Given the description of an element on the screen output the (x, y) to click on. 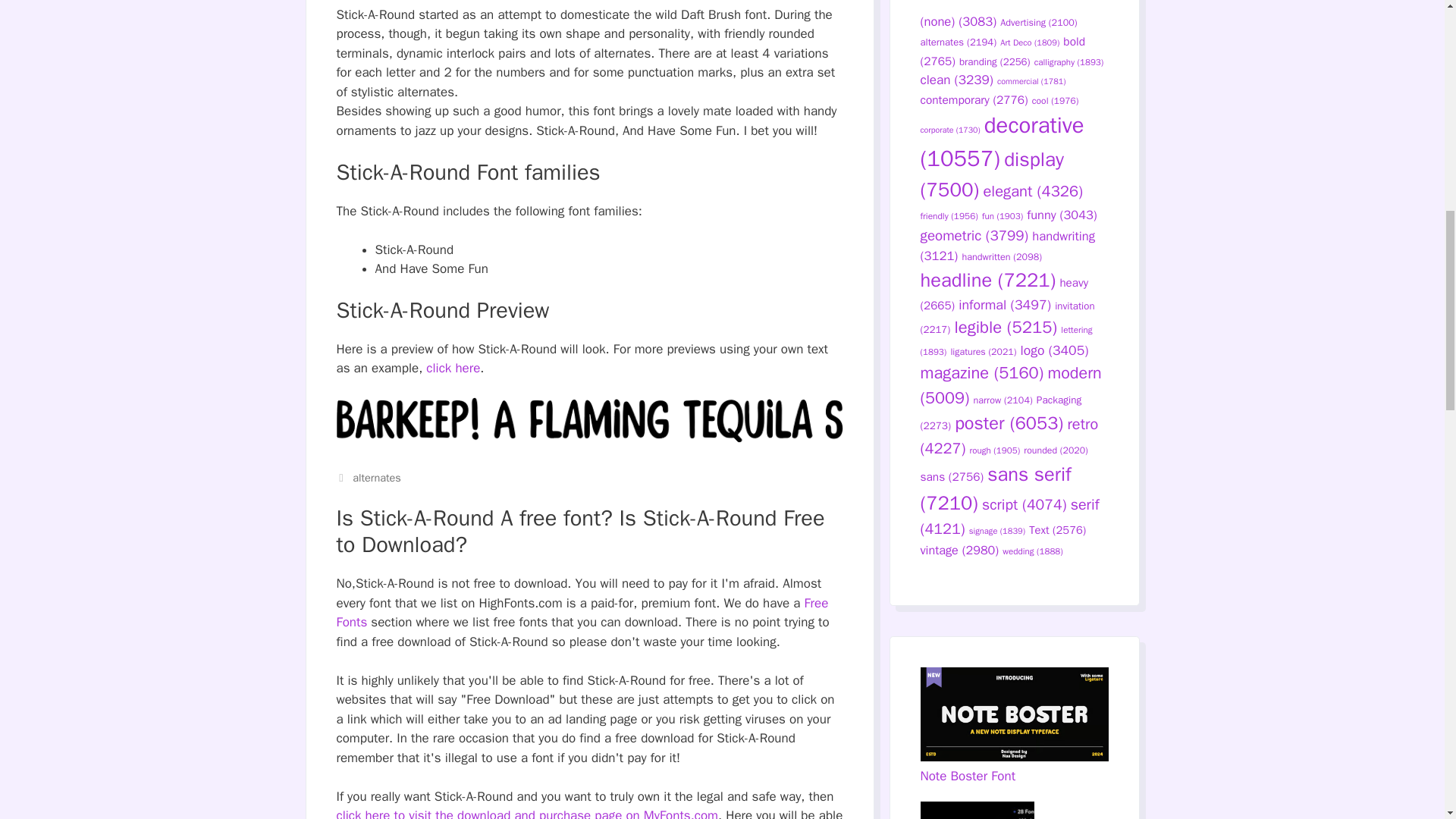
alternates (376, 477)
click here (453, 367)
Free Fonts (582, 612)
